Given the description of an element on the screen output the (x, y) to click on. 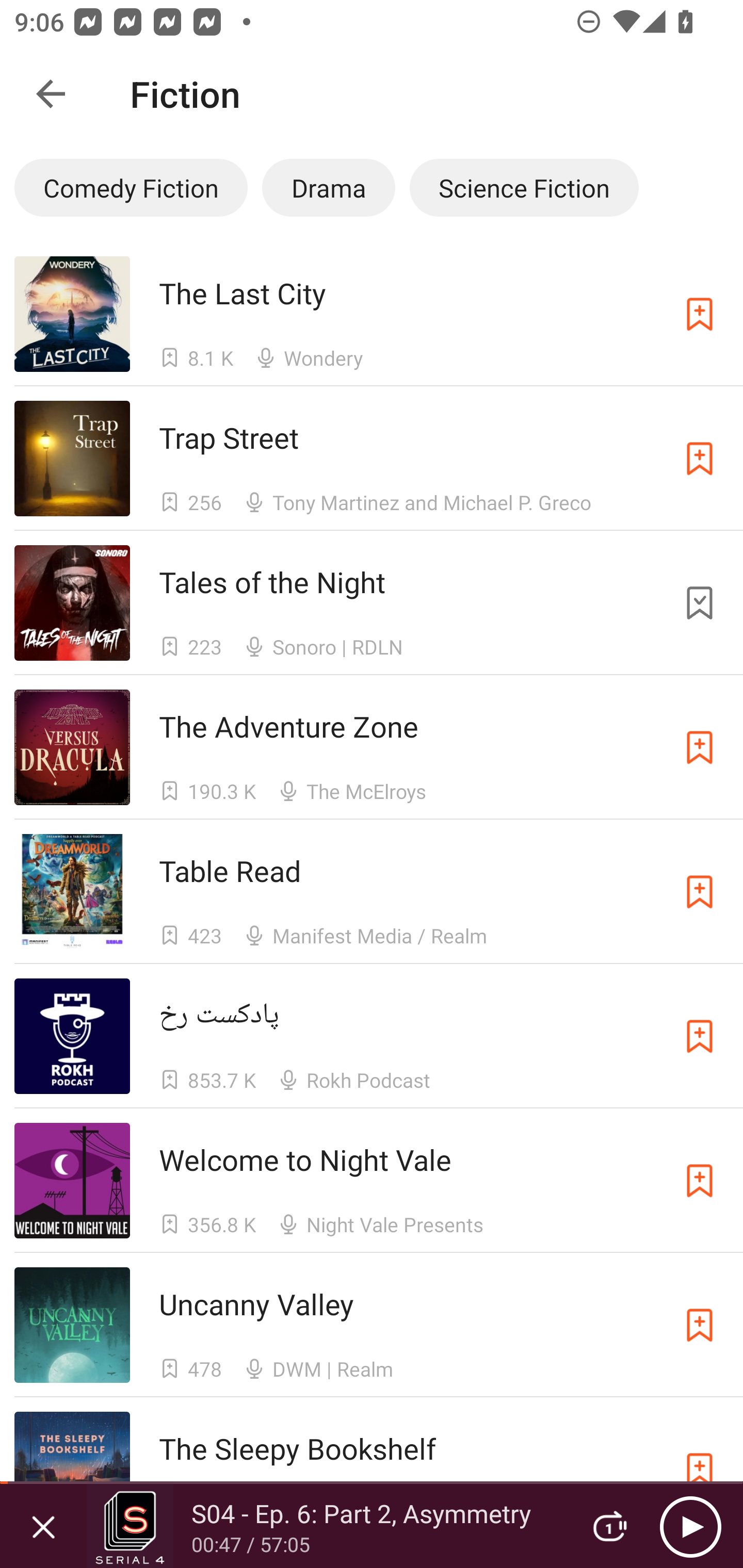
Navigate up (50, 93)
Comedy Fiction (130, 187)
Drama (328, 187)
Science Fiction (523, 187)
Subscribe (699, 313)
Subscribe (699, 458)
Unsubscribe (699, 602)
Subscribe (699, 746)
Subscribe (699, 892)
Subscribe (699, 1036)
Subscribe (699, 1180)
Subscribe (699, 1324)
Subscribe (699, 1469)
S04 - Ep. 6: Part 2, Asymmetry 00:47 / 57:05 (326, 1525)
Play (690, 1526)
